Given the description of an element on the screen output the (x, y) to click on. 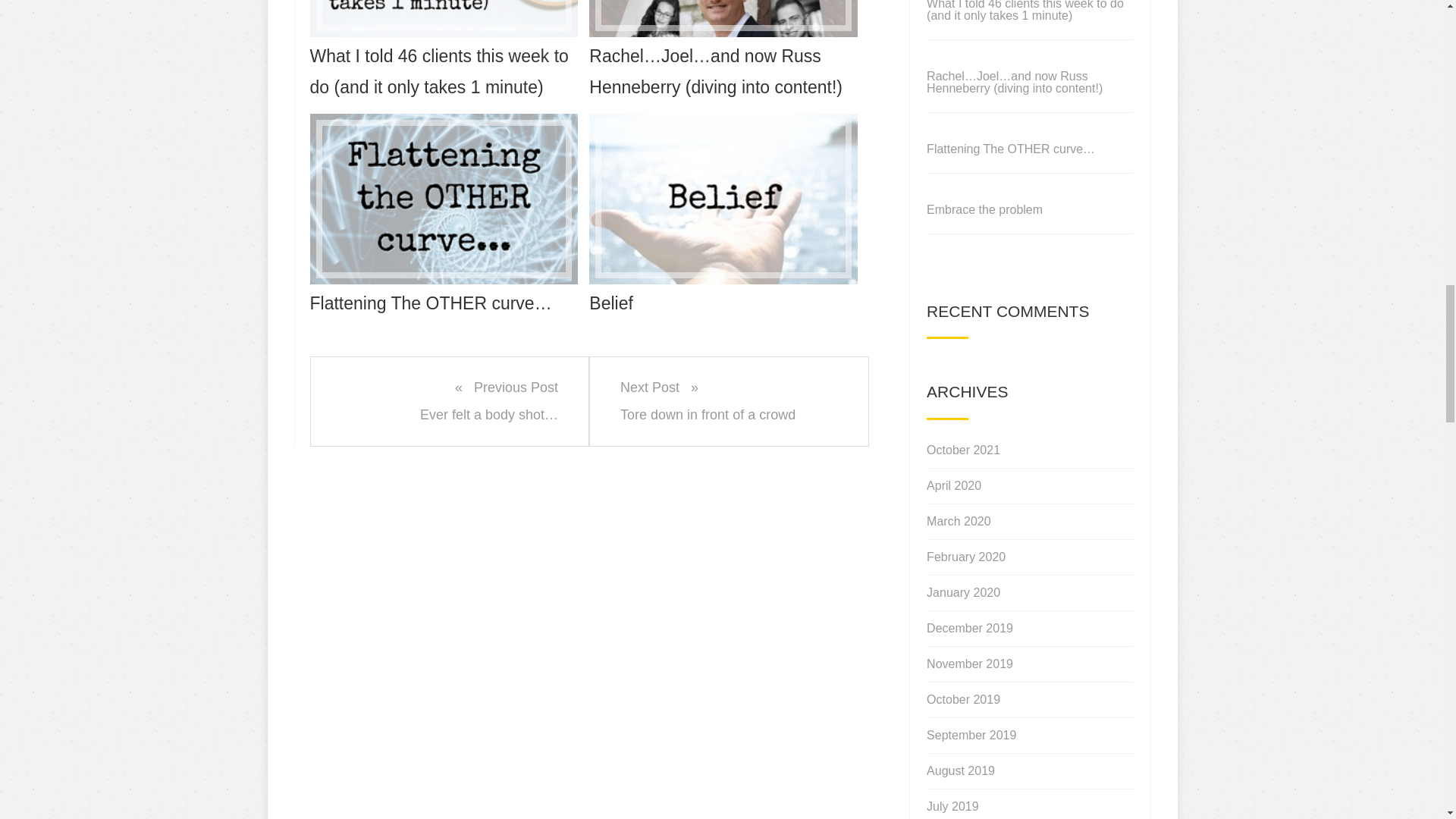
November 2019 (969, 664)
December 2019 (969, 628)
February 2020 (966, 556)
Belief (723, 215)
July 2019 (952, 804)
October 2019 (963, 699)
Embrace the problem (984, 209)
January 2020 (728, 401)
August 2019 (963, 592)
April 2020 (960, 770)
October 2021 (953, 485)
March 2020 (963, 450)
September 2019 (958, 521)
